Given the description of an element on the screen output the (x, y) to click on. 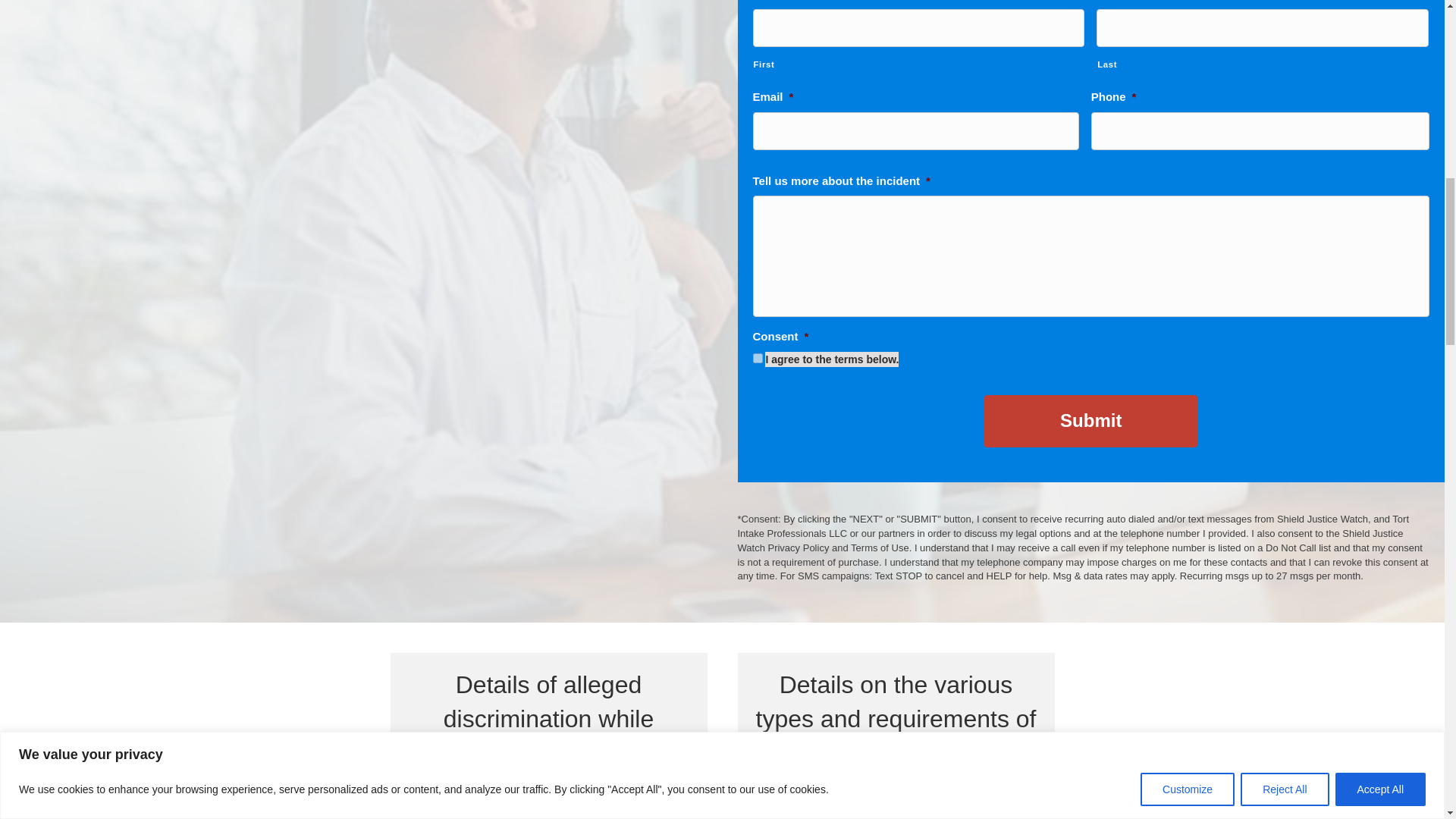
Submit (1090, 420)
Privacy Policy (797, 547)
1 (756, 357)
iStock-1320995370 (549, 802)
iStock-609072850 (896, 802)
Submit (1090, 420)
Terms of Use (879, 547)
